Given the description of an element on the screen output the (x, y) to click on. 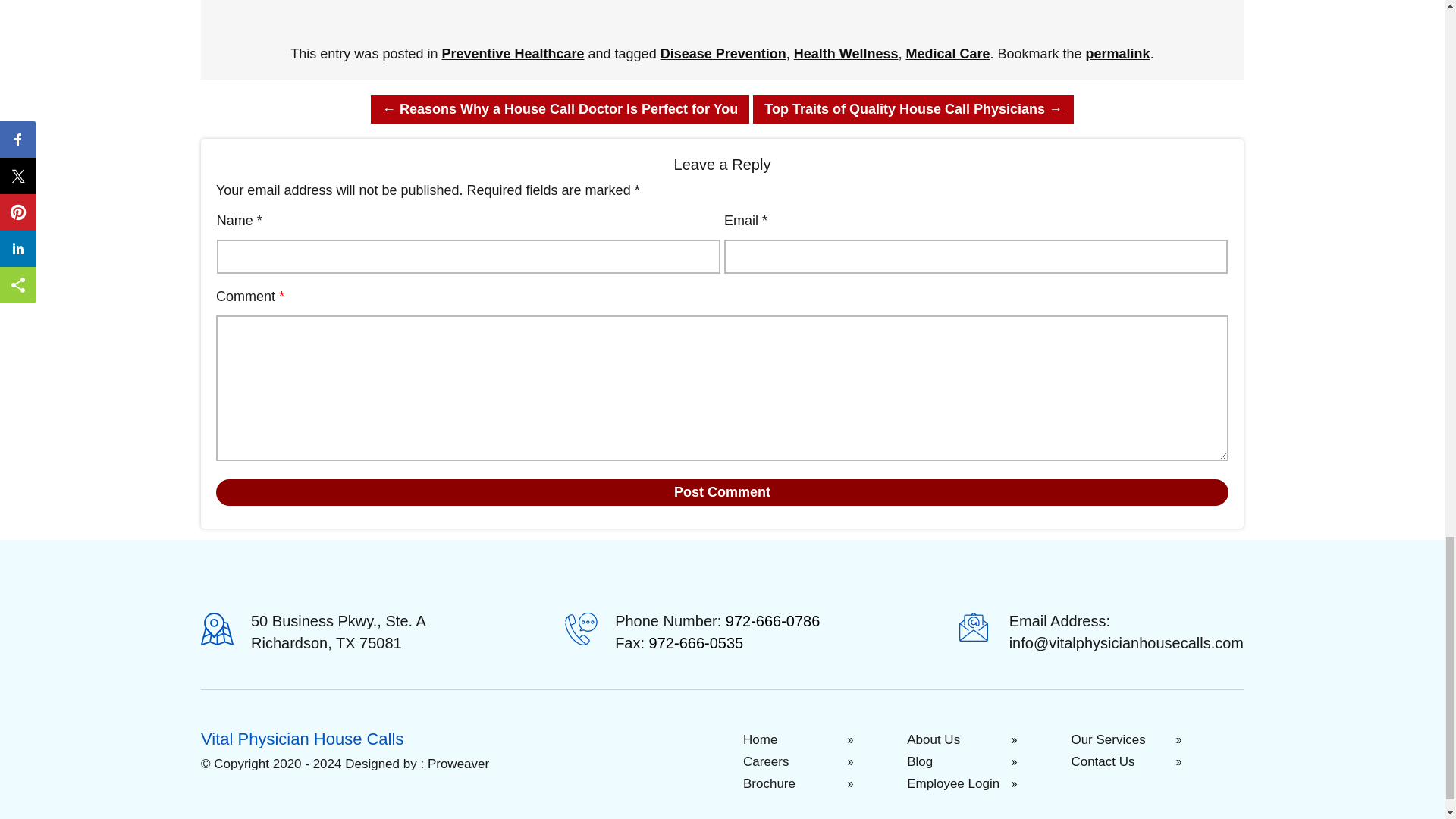
Post Comment (721, 492)
Post Comment (721, 492)
Disease Prevention (723, 53)
Medical Care (947, 53)
About Us (987, 740)
Permalink to Reasons Why Preventive Healthcare Is Good (1118, 53)
Home (822, 740)
Health Wellness (845, 53)
permalink (1118, 53)
Proweaver (458, 763)
Preventive Healthcare (512, 53)
